Given the description of an element on the screen output the (x, y) to click on. 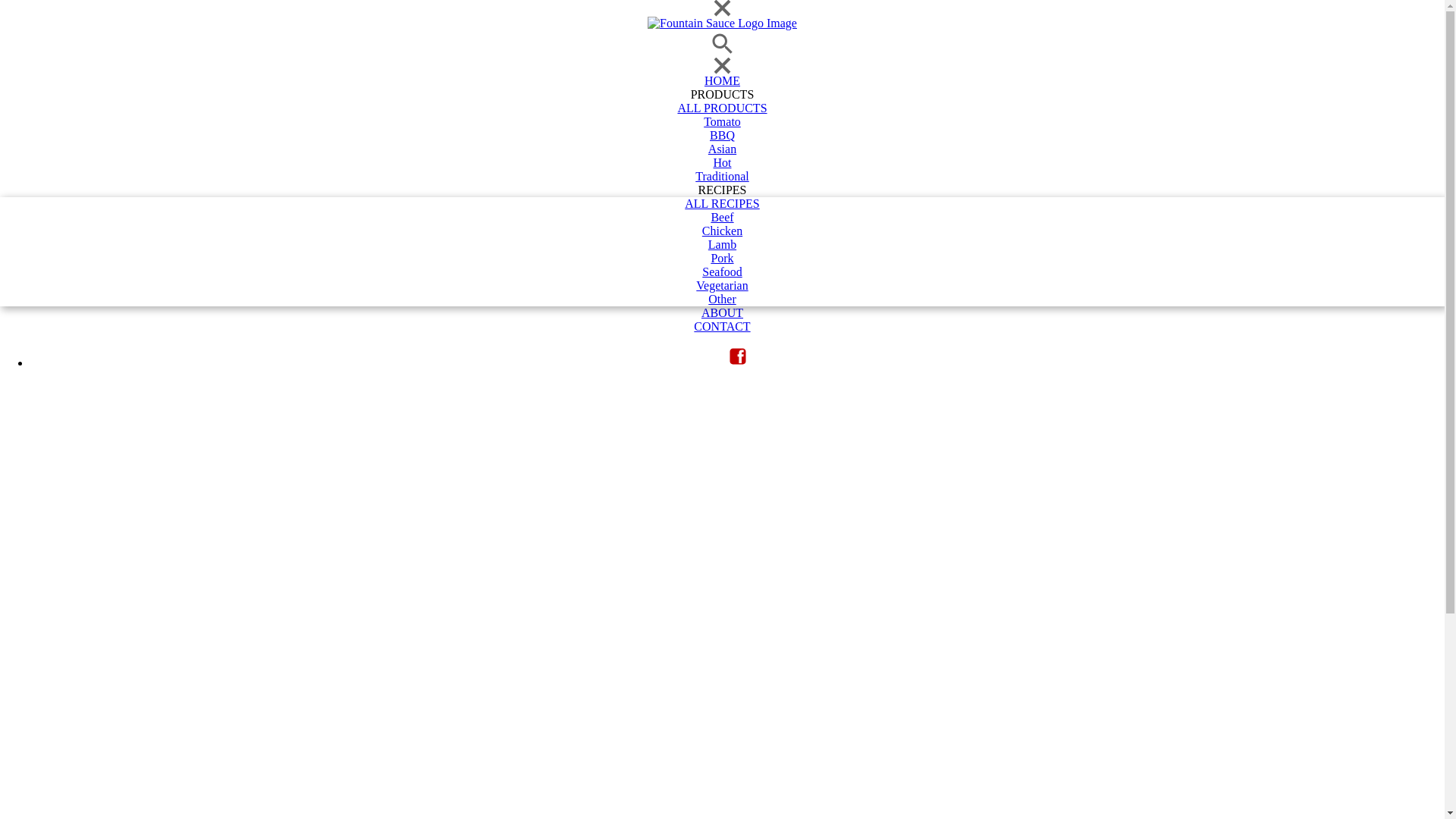
Other Element type: text (722, 299)
Hot Element type: text (722, 162)
RECIPES Element type: text (722, 190)
ALL RECIPES Element type: text (722, 203)
Beef Element type: text (722, 217)
Facebook Element type: hover (737, 356)
Lamb Element type: text (722, 244)
Traditional Element type: text (722, 176)
Tomato Element type: text (722, 121)
Asian Element type: text (722, 149)
Chicken Element type: text (722, 231)
ALL PRODUCTS Element type: text (722, 108)
Pork Element type: text (722, 258)
PRODUCTS Element type: text (722, 94)
HOME Element type: text (722, 80)
Vegetarian Element type: text (722, 285)
ABOUT Element type: text (722, 313)
Fountain Sauces Element type: hover (722, 23)
CONTACT Element type: text (722, 326)
BBQ Element type: text (722, 135)
Seafood Element type: text (722, 272)
